Given the description of an element on the screen output the (x, y) to click on. 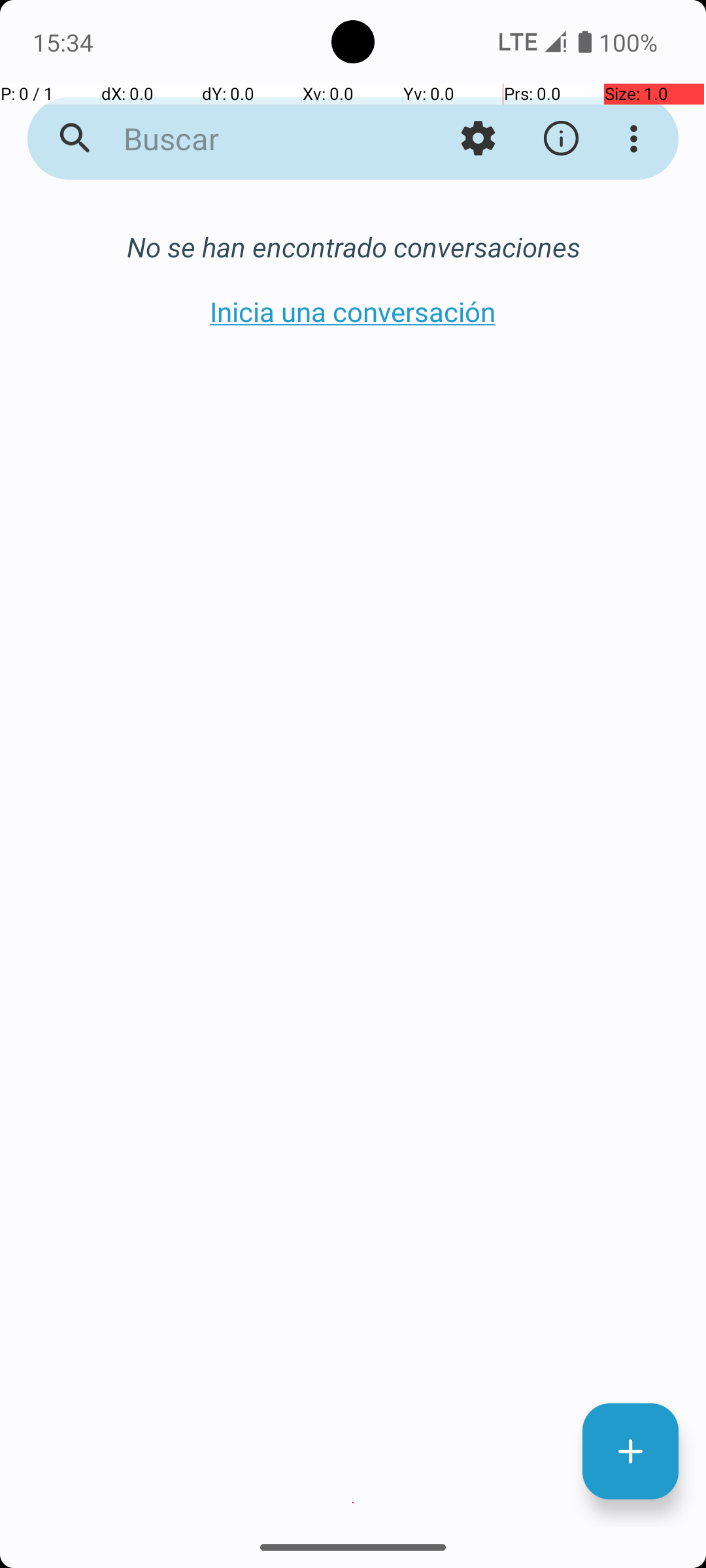
Acerca de Element type: android.widget.Button (560, 138)
No se han encontrado conversaciones Element type: android.widget.TextView (353, 246)
Inicia una conversación Element type: android.widget.TextView (352, 311)
